Given the description of an element on the screen output the (x, y) to click on. 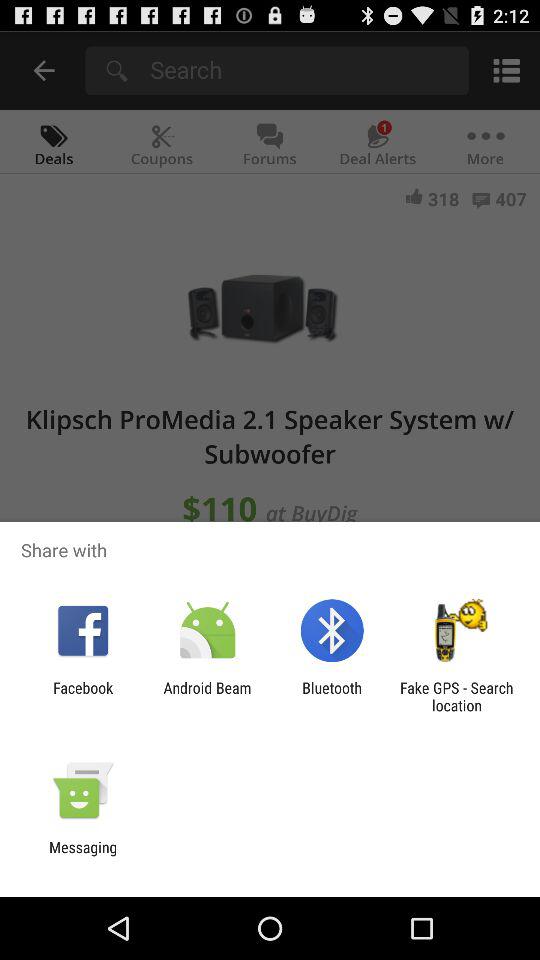
select the facebook icon (83, 696)
